Given the description of an element on the screen output the (x, y) to click on. 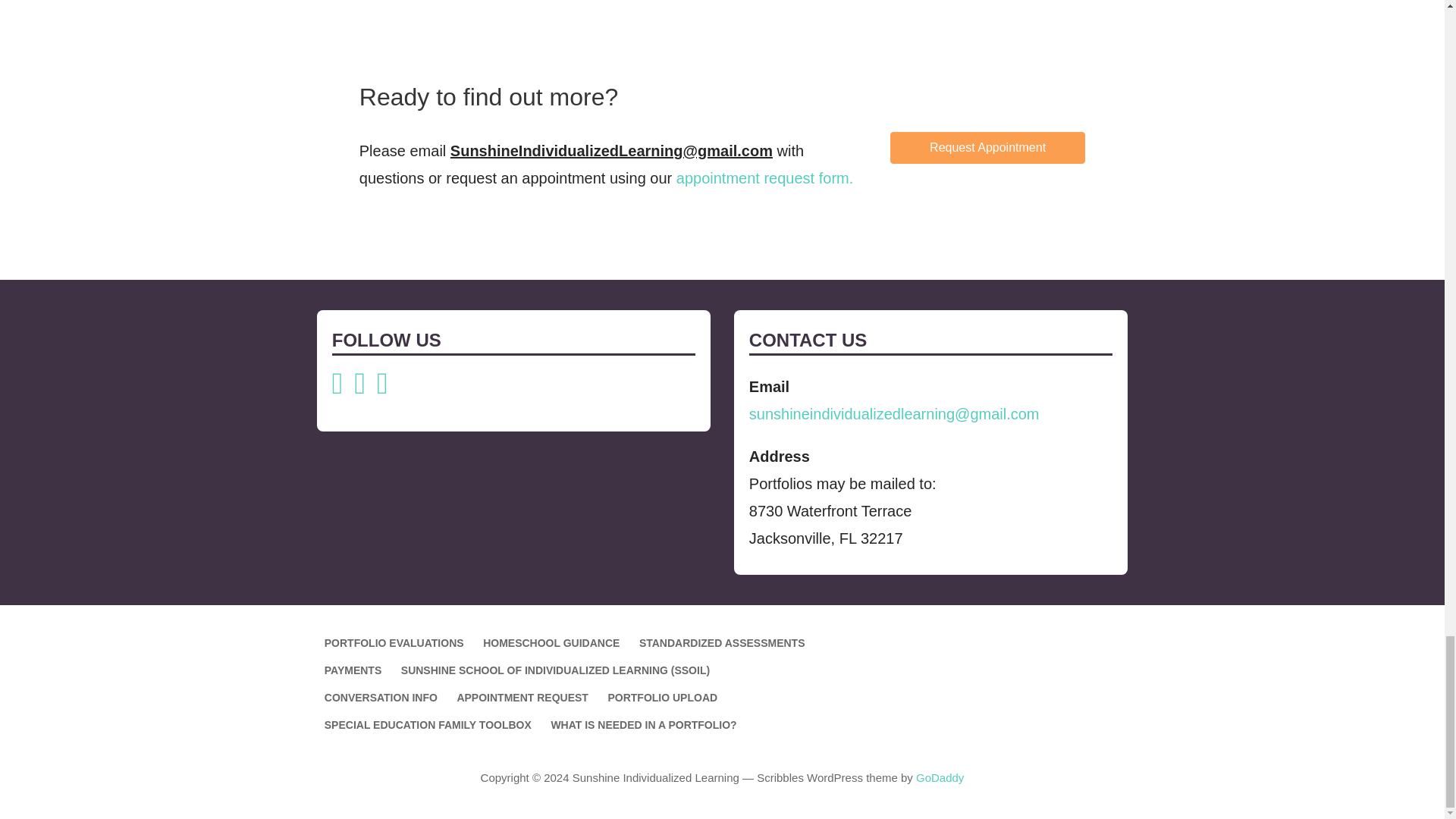
PORTFOLIO EVALUATIONS (394, 643)
Request Appointment (986, 147)
GoDaddy (939, 777)
SPECIAL EDUCATION FAMILY TOOLBOX (427, 725)
HOMESCHOOL GUIDANCE (551, 643)
CONVERSATION INFO (381, 697)
PORTFOLIO UPLOAD (662, 697)
APPOINTMENT REQUEST (522, 697)
appointment request form. (765, 177)
WHAT IS NEEDED IN A PORTFOLIO? (643, 725)
PAYMENTS (352, 670)
STANDARDIZED ASSESSMENTS (722, 643)
